Given the description of an element on the screen output the (x, y) to click on. 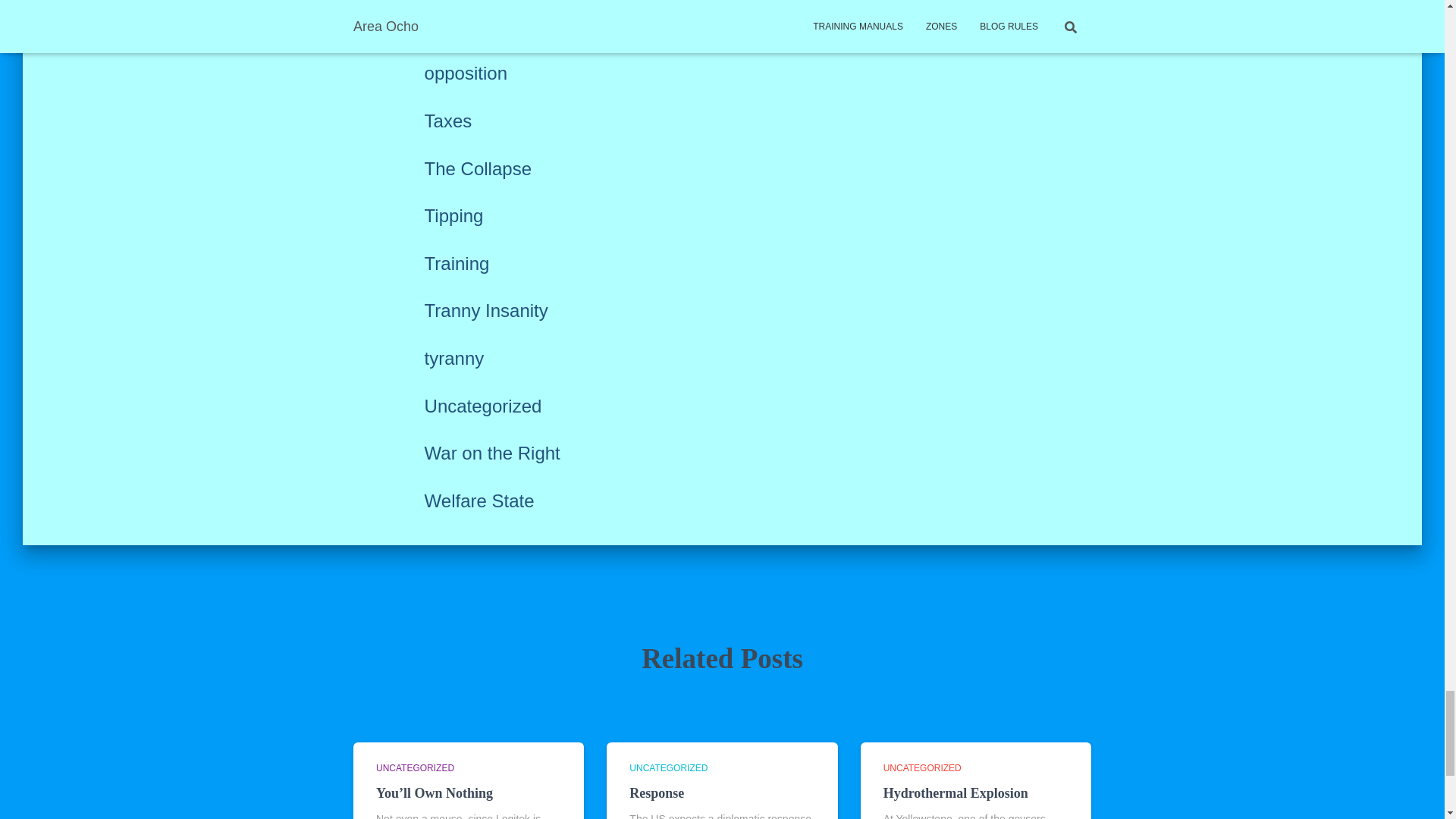
View all posts in Uncategorized (921, 767)
View all posts in Uncategorized (667, 767)
View all posts in Uncategorized (414, 767)
Hydrothermal Explosion (955, 792)
Response (656, 792)
